Given the description of an element on the screen output the (x, y) to click on. 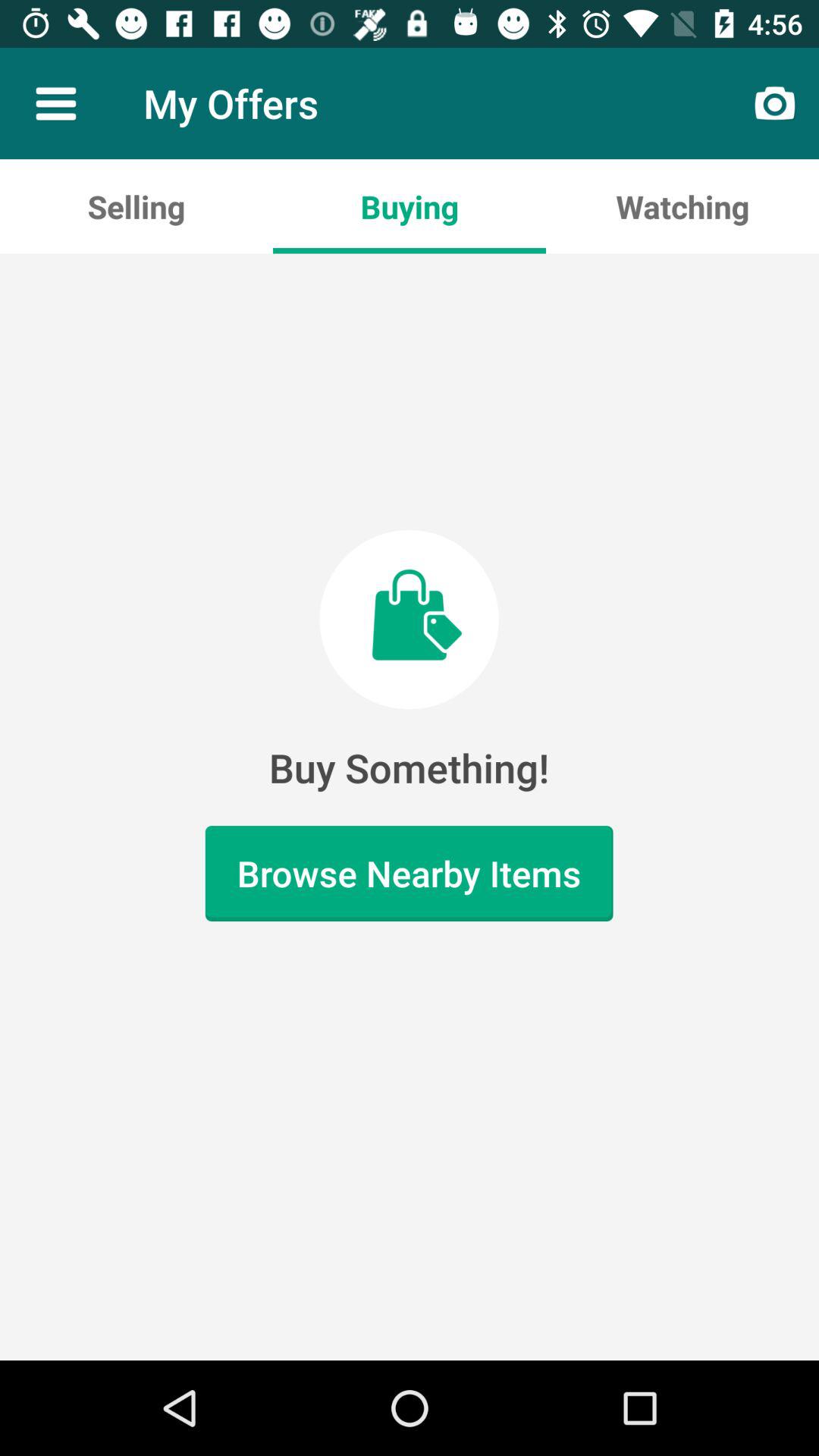
swipe to the browse nearby items icon (409, 873)
